Given the description of an element on the screen output the (x, y) to click on. 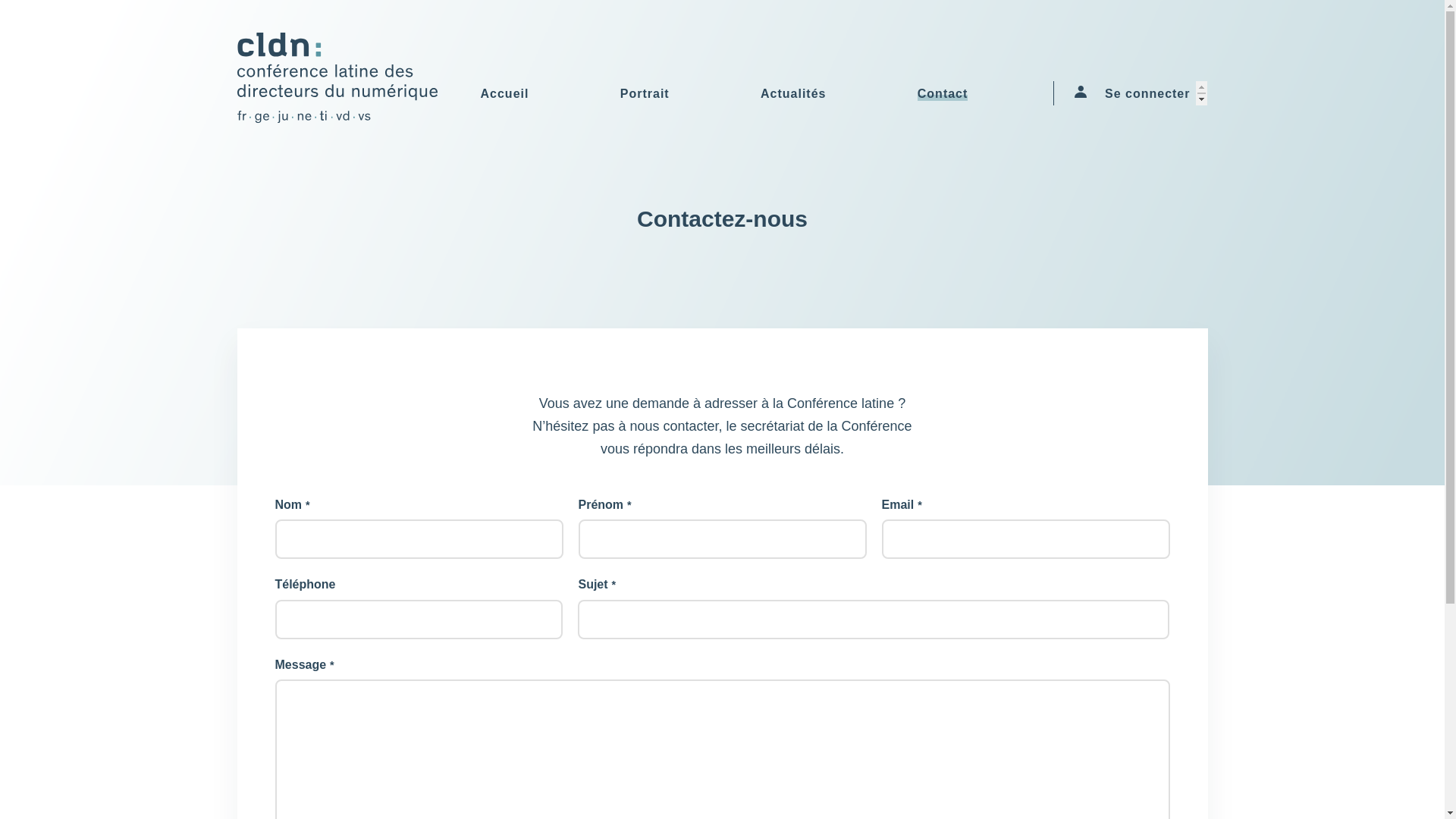
Se connecter Element type: text (1137, 93)
Accueil Element type: text (504, 93)
Contact Element type: text (942, 93)
Portrait Element type: text (644, 93)
